Given the description of an element on the screen output the (x, y) to click on. 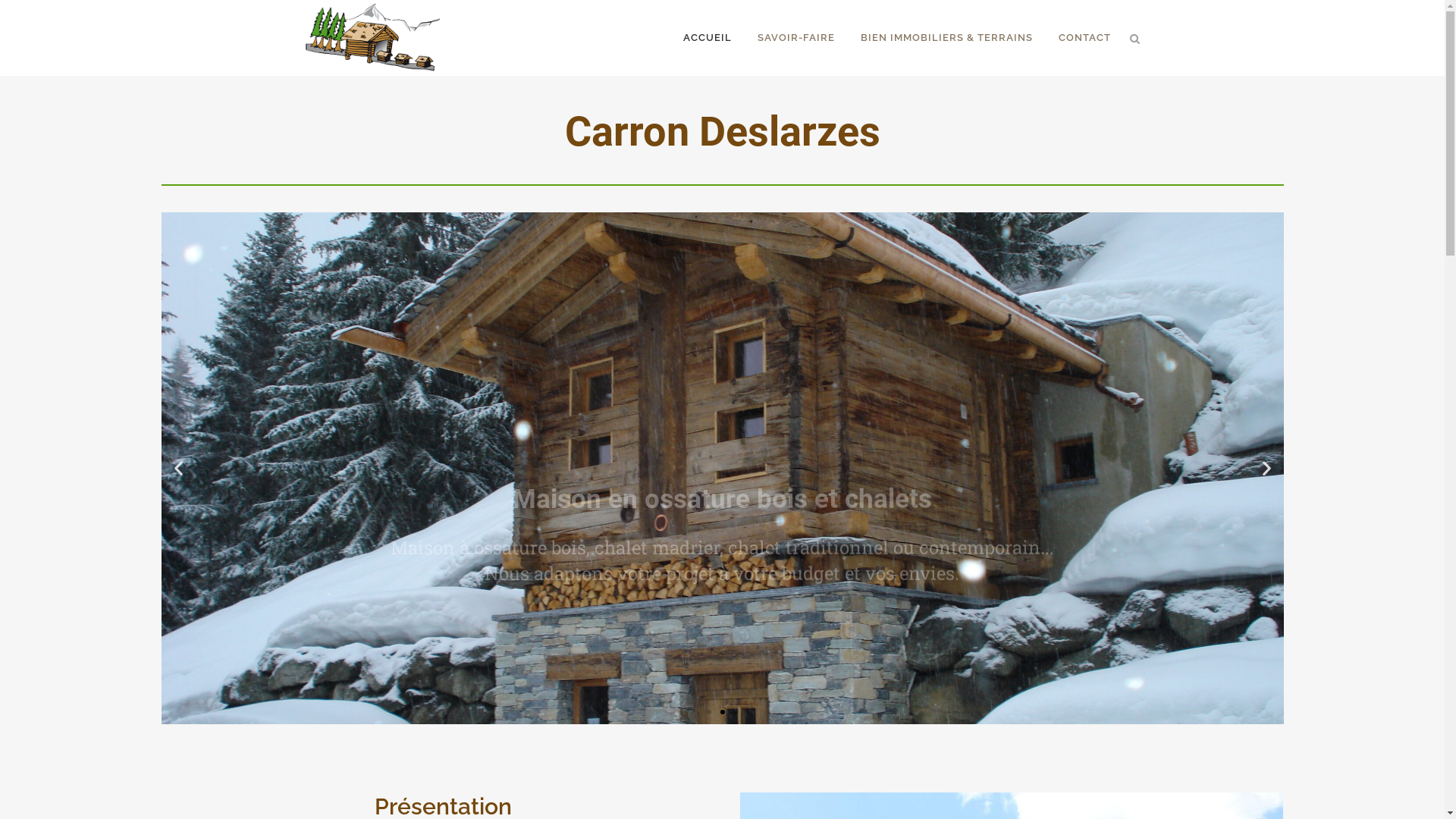
CONTACT Element type: text (1083, 37)
SAVOIR-FAIRE Element type: text (795, 37)
ACCUEIL Element type: text (707, 37)
BIEN IMMOBILIERS & TERRAINS Element type: text (946, 37)
